Given the description of an element on the screen output the (x, y) to click on. 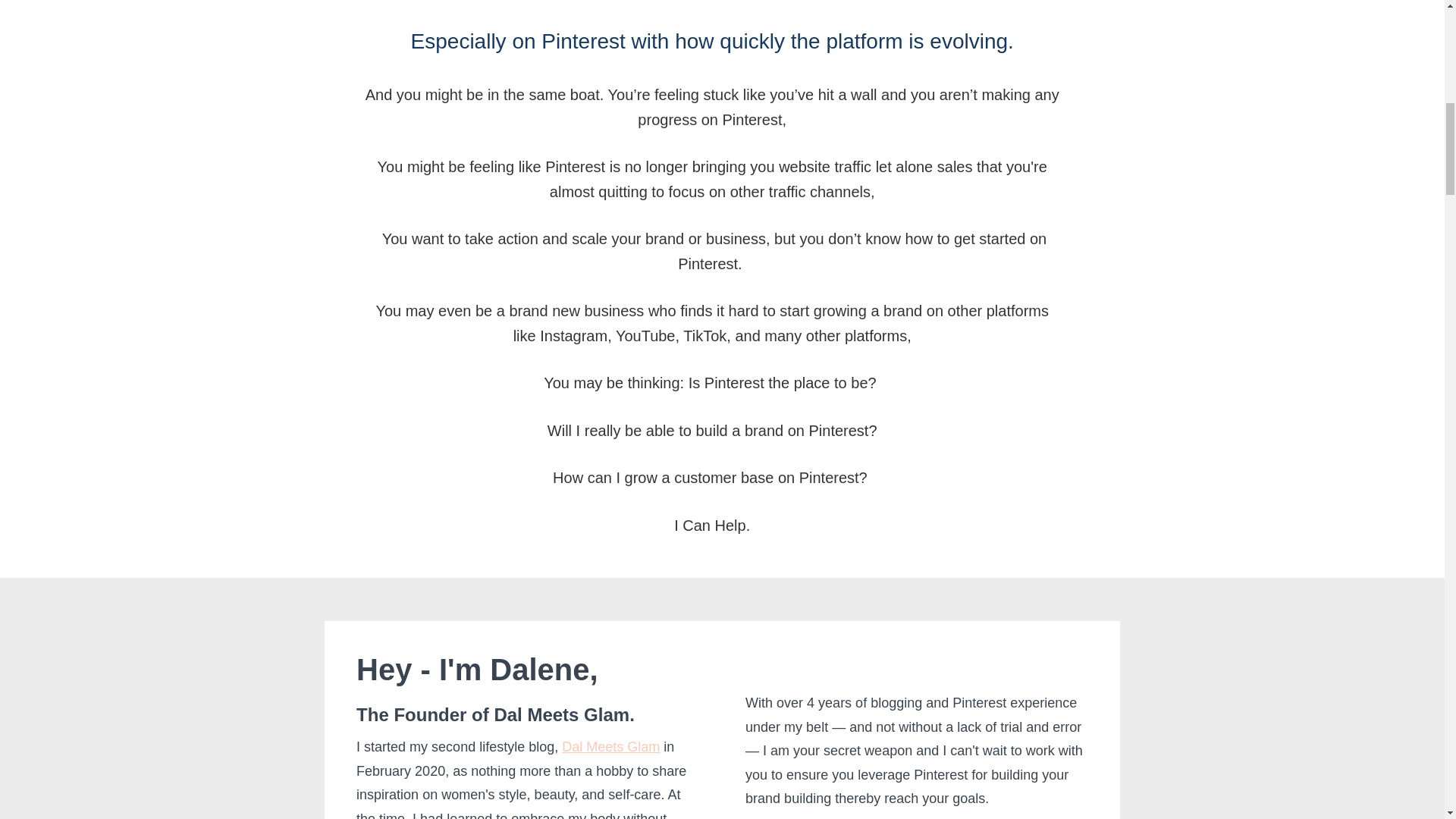
Dal Meets Glam (610, 746)
